Given the description of an element on the screen output the (x, y) to click on. 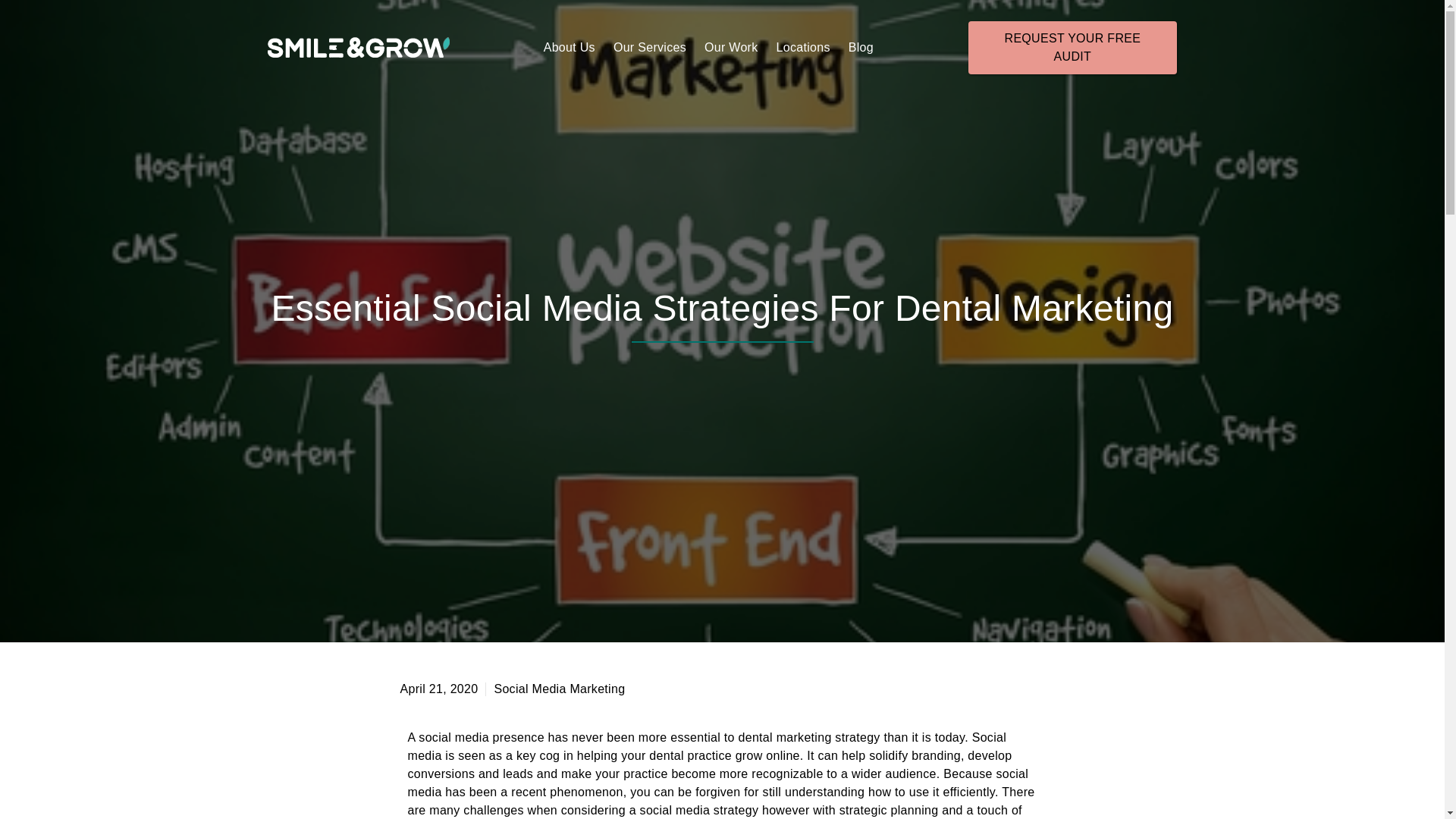
About Us (569, 46)
REQUEST YOUR FREE AUDIT (1072, 47)
Our Work (731, 46)
Locations (803, 46)
Blog (861, 46)
Our Services (649, 46)
